Given the description of an element on the screen output the (x, y) to click on. 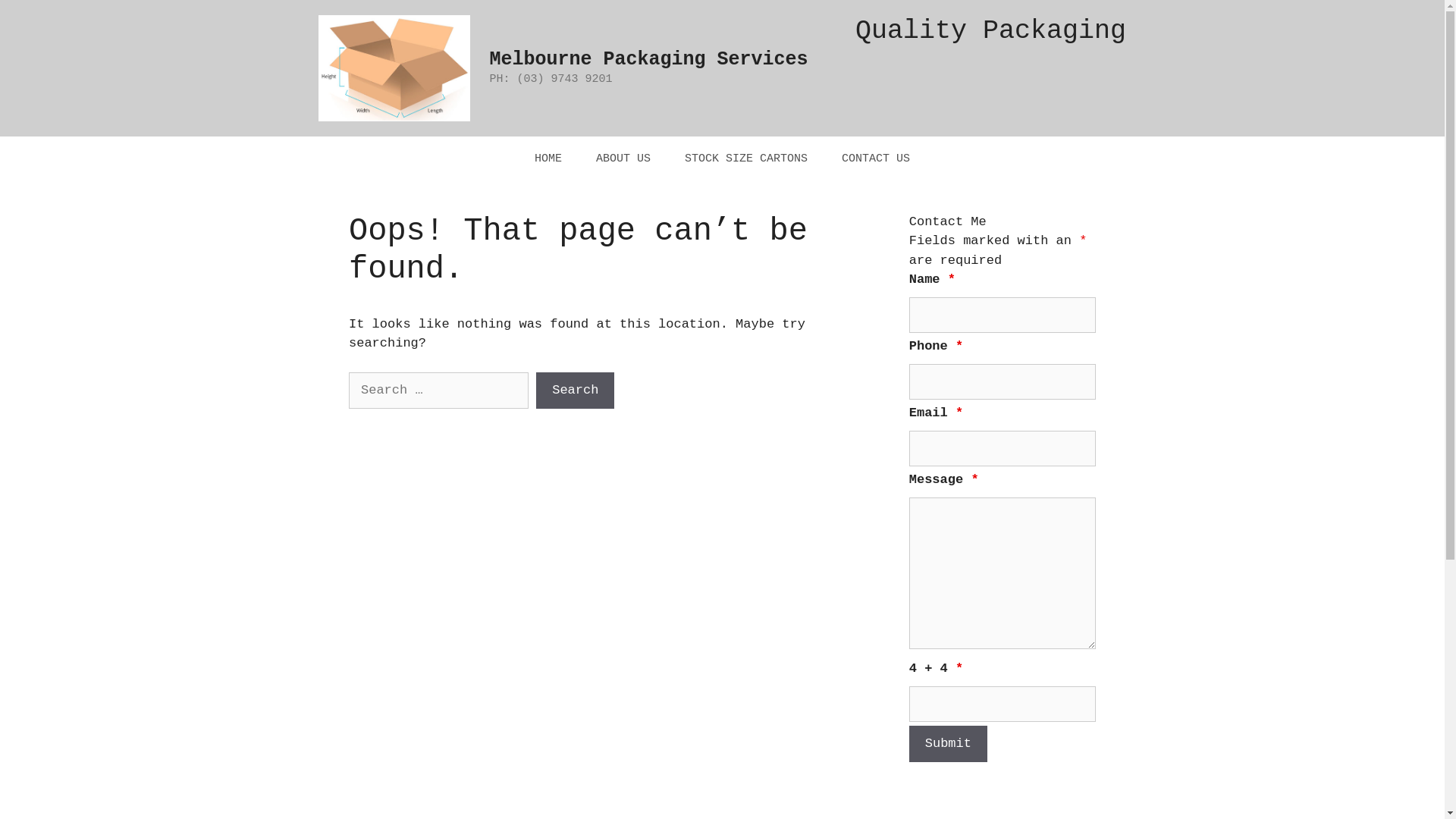
Search Element type: text (575, 390)
HOME Element type: text (548, 159)
CONTACT US Element type: text (875, 159)
Submit Element type: text (948, 743)
ABOUT US Element type: text (622, 159)
Melbourne Packaging Services Element type: text (648, 59)
Search for: Element type: hover (438, 390)
STOCK SIZE CARTONS Element type: text (745, 159)
